Given the description of an element on the screen output the (x, y) to click on. 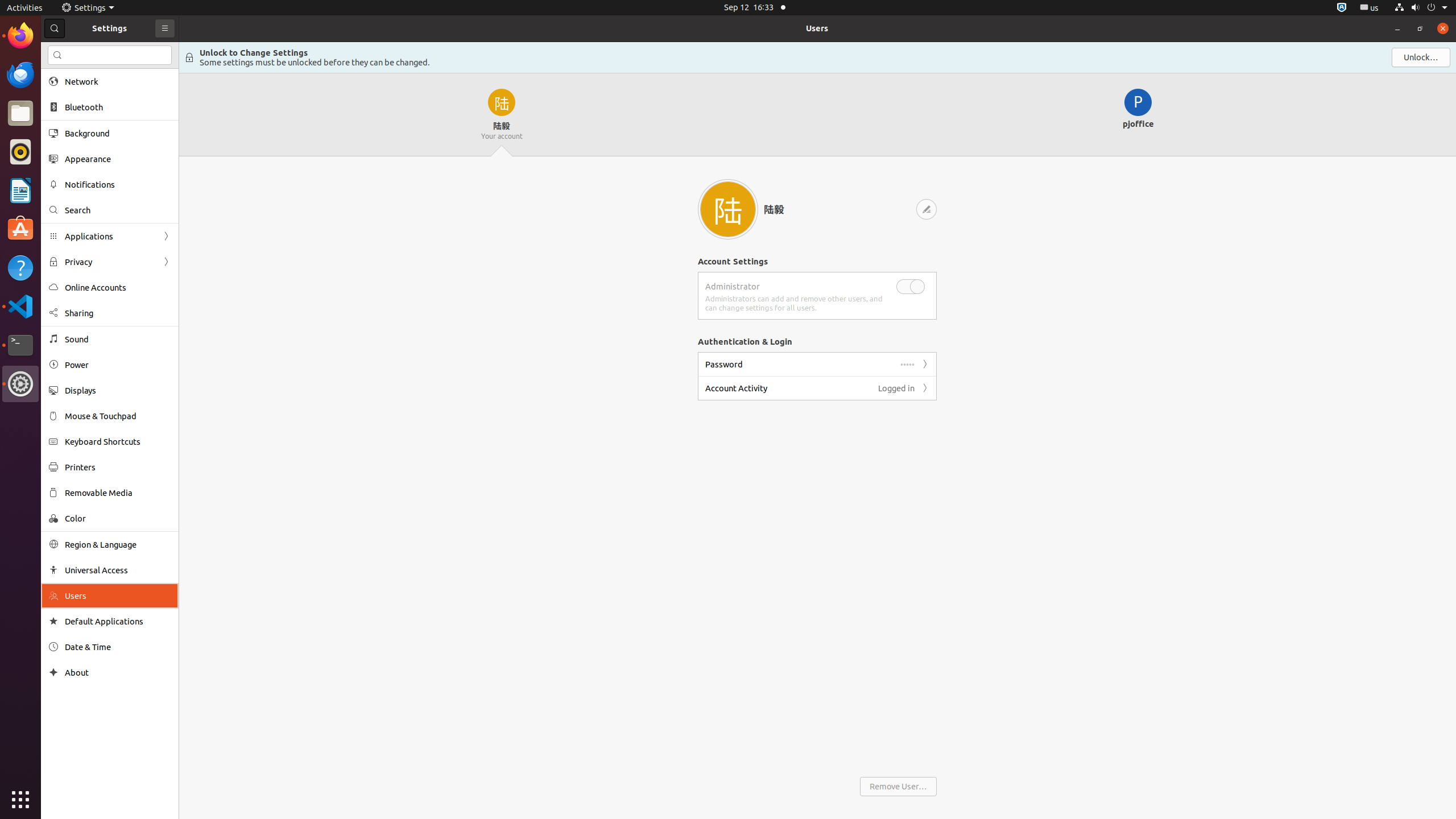
Privacy Element type: label (109, 261)
Close Element type: push-button (1442, 27)
Settings Element type: menu (87, 7)
pjoffice Element type: radio-button (1138, 114)
Power Element type: label (117, 364)
